Given the description of an element on the screen output the (x, y) to click on. 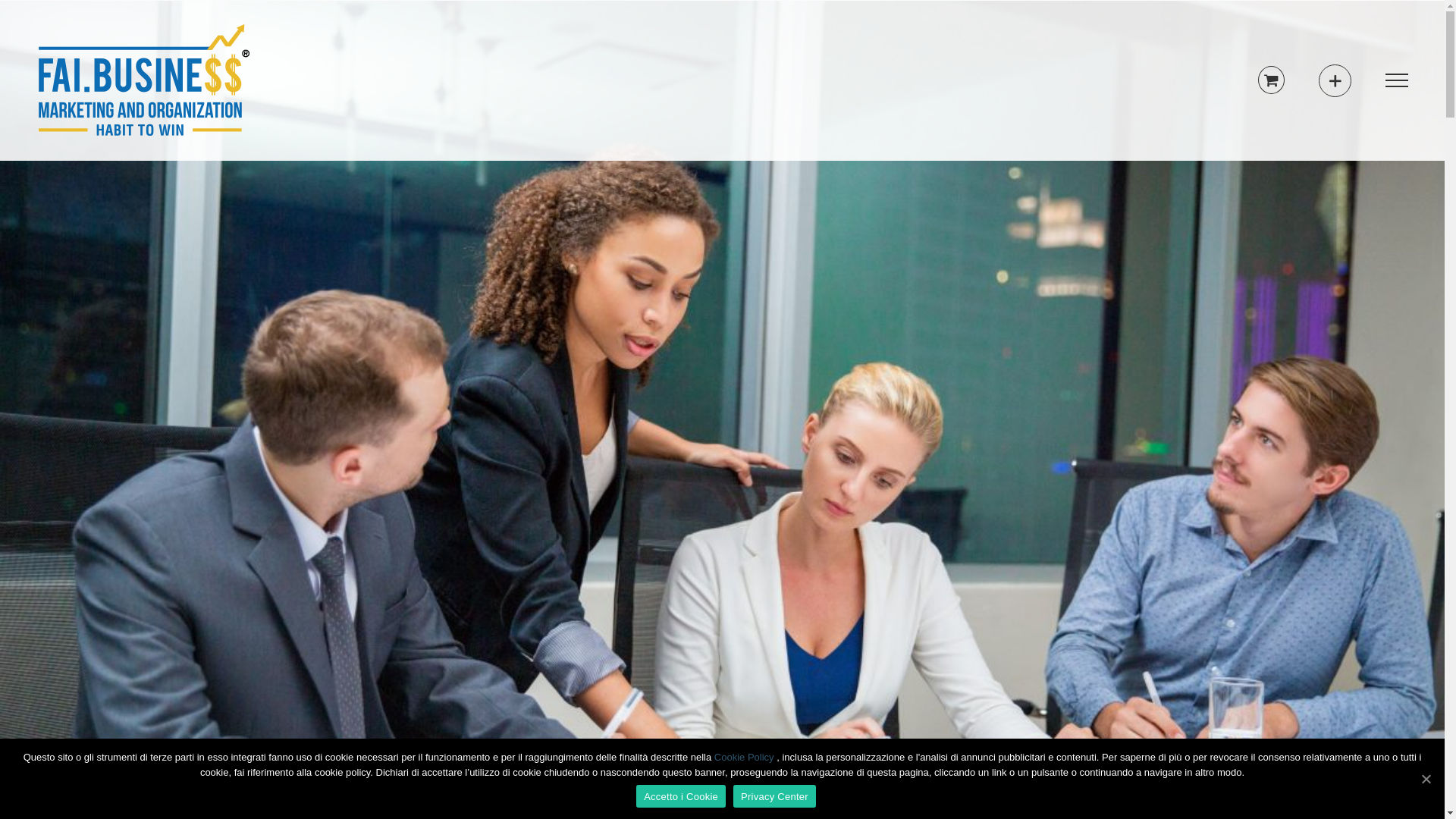
Cookie Policy Element type: text (745, 756)
Privacy Center Element type: text (774, 795)
Accetto i Cookie Element type: text (680, 795)
